Given the description of an element on the screen output the (x, y) to click on. 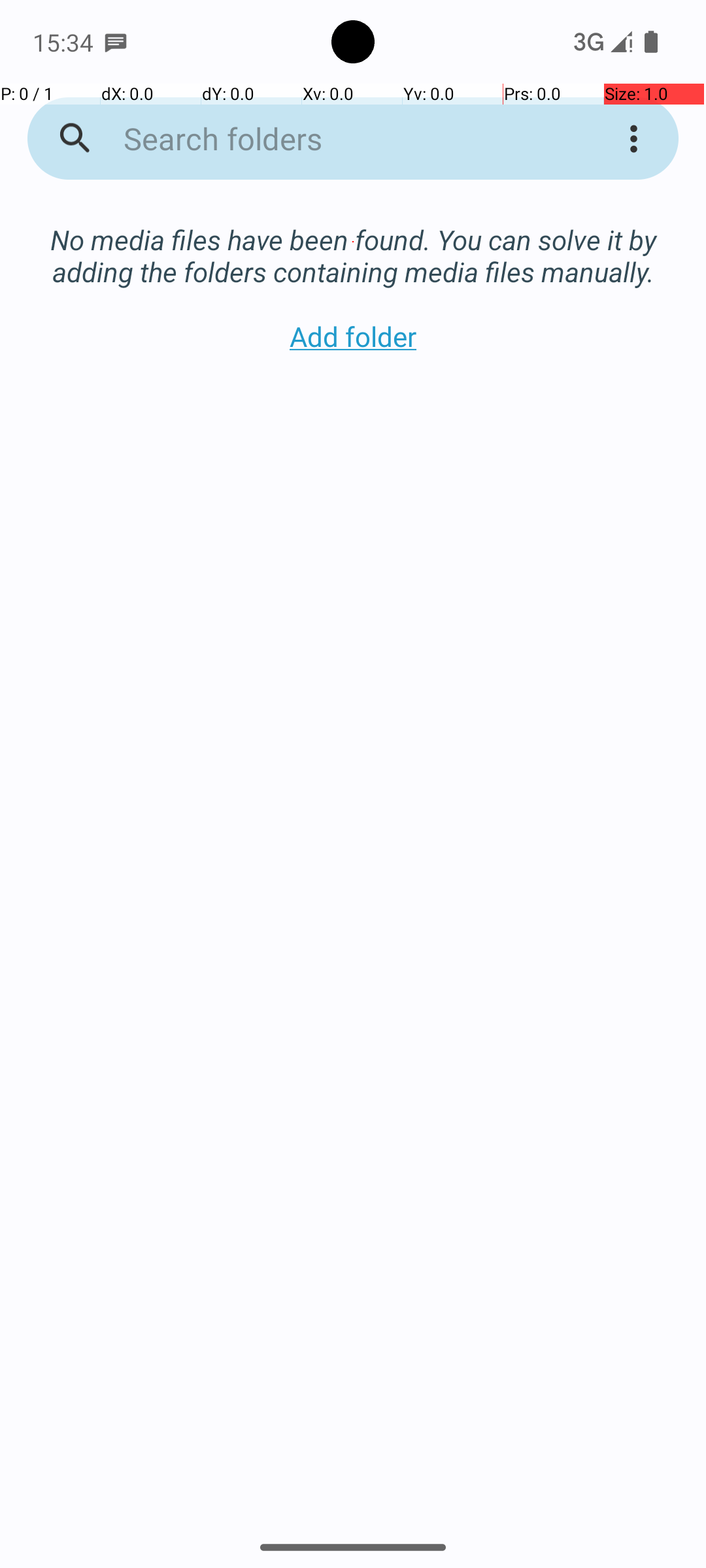
No media files have been found. You can solve it by adding the folders containing media files manually. Element type: android.widget.TextView (353, 241)
Add folder Element type: android.widget.TextView (352, 336)
Search folders Element type: android.widget.EditText (335, 138)
